Given the description of an element on the screen output the (x, y) to click on. 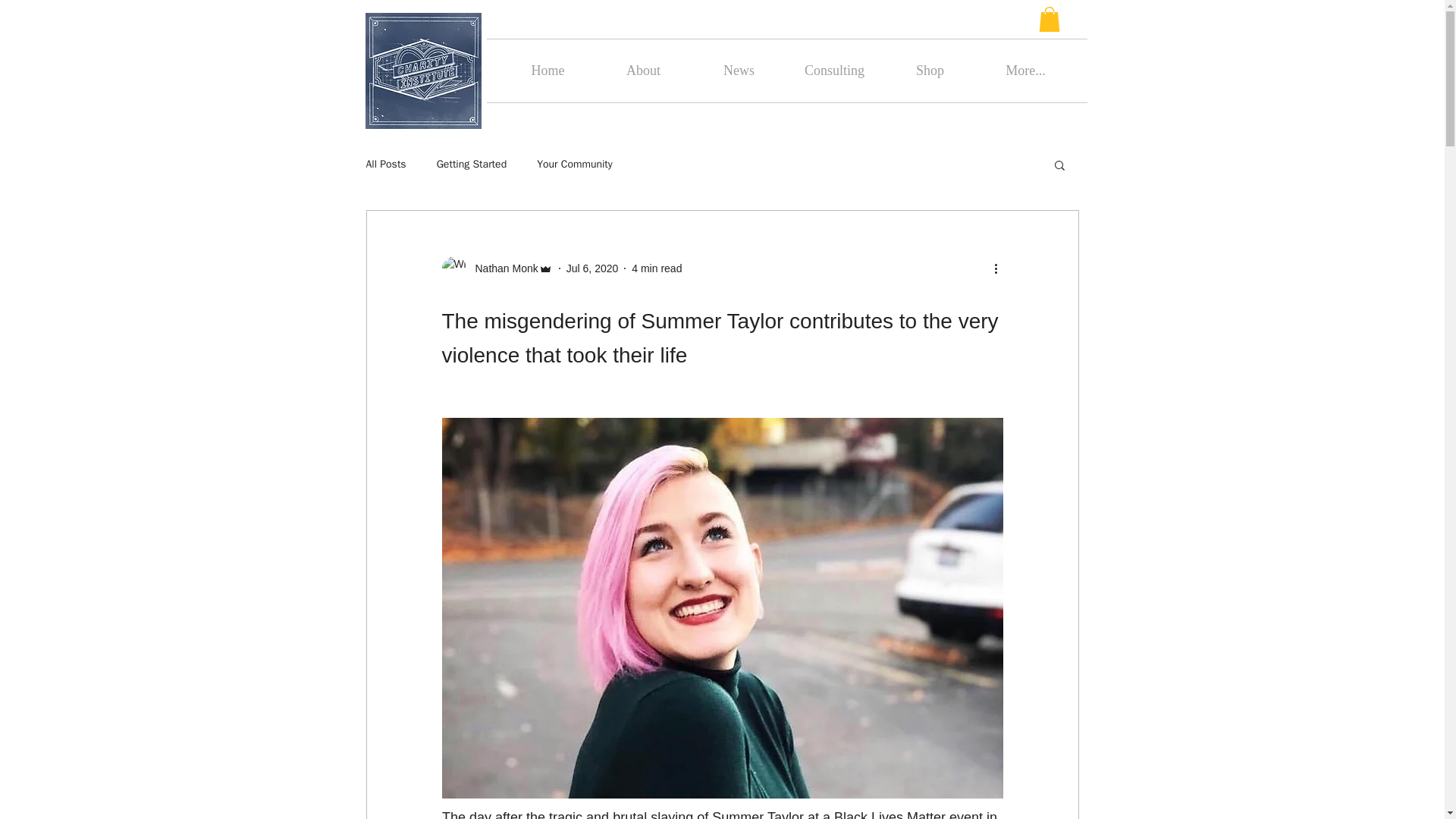
Nathan Monk (496, 268)
Getting Started (471, 164)
Home (547, 70)
Jul 6, 2020 (592, 268)
Your Community (574, 164)
All Posts (385, 164)
Nathan Monk (501, 268)
4 min read (656, 268)
News (739, 70)
Consulting (834, 70)
Shop (930, 70)
About (643, 70)
